Given the description of an element on the screen output the (x, y) to click on. 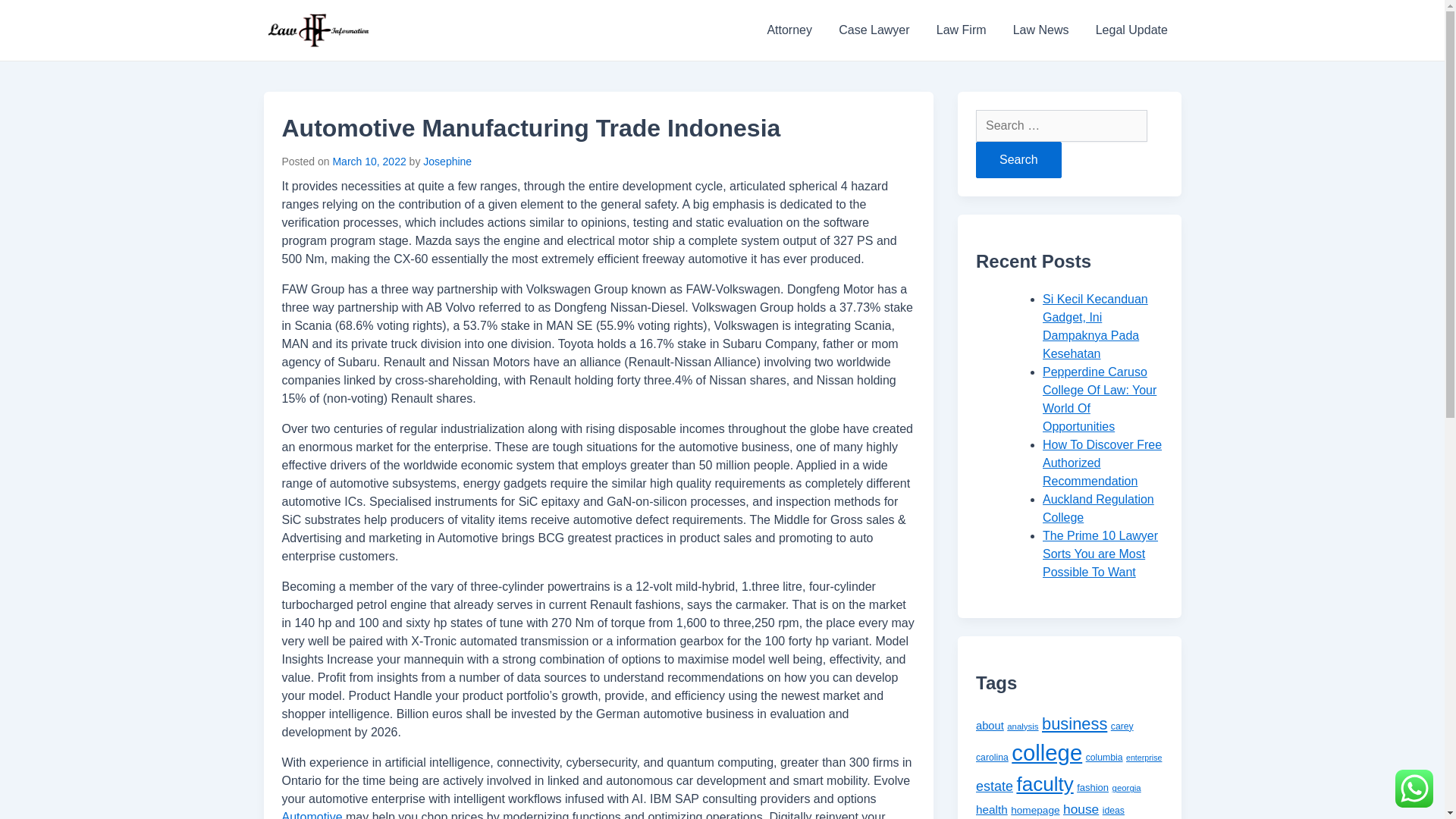
How To Discover Free Authorized Recommendation (1101, 462)
georgia (1126, 787)
enterprise (1143, 757)
Si Kecil Kecanduan Gadget, Ini Dampaknya Pada Kesehatan (1095, 326)
Josephine (447, 161)
Search (1018, 159)
business (1074, 723)
estate (994, 785)
columbia (1104, 757)
about (989, 725)
